Given the description of an element on the screen output the (x, y) to click on. 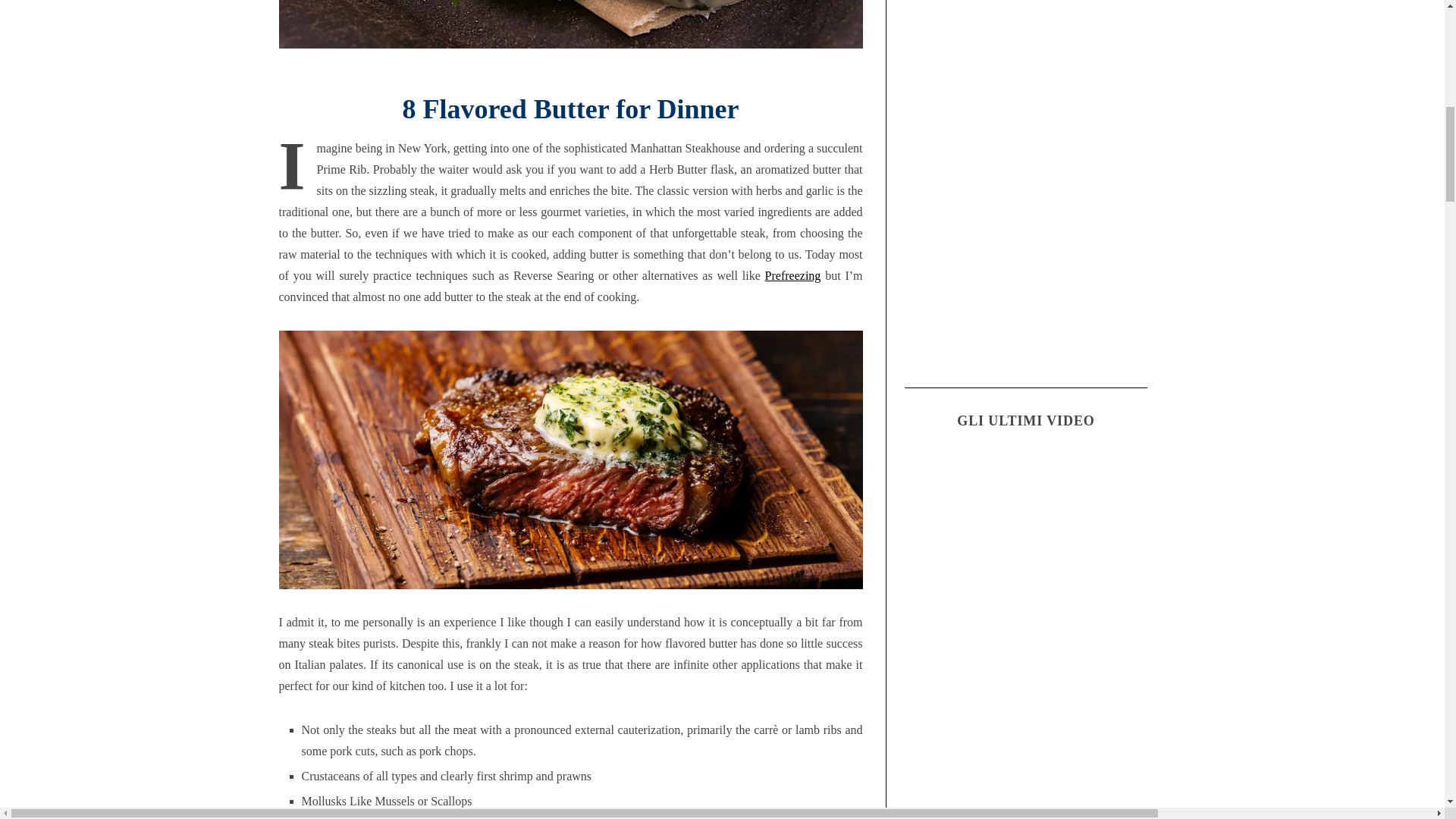
Prefreezing (793, 275)
Advertisement (1025, 279)
